Given the description of an element on the screen output the (x, y) to click on. 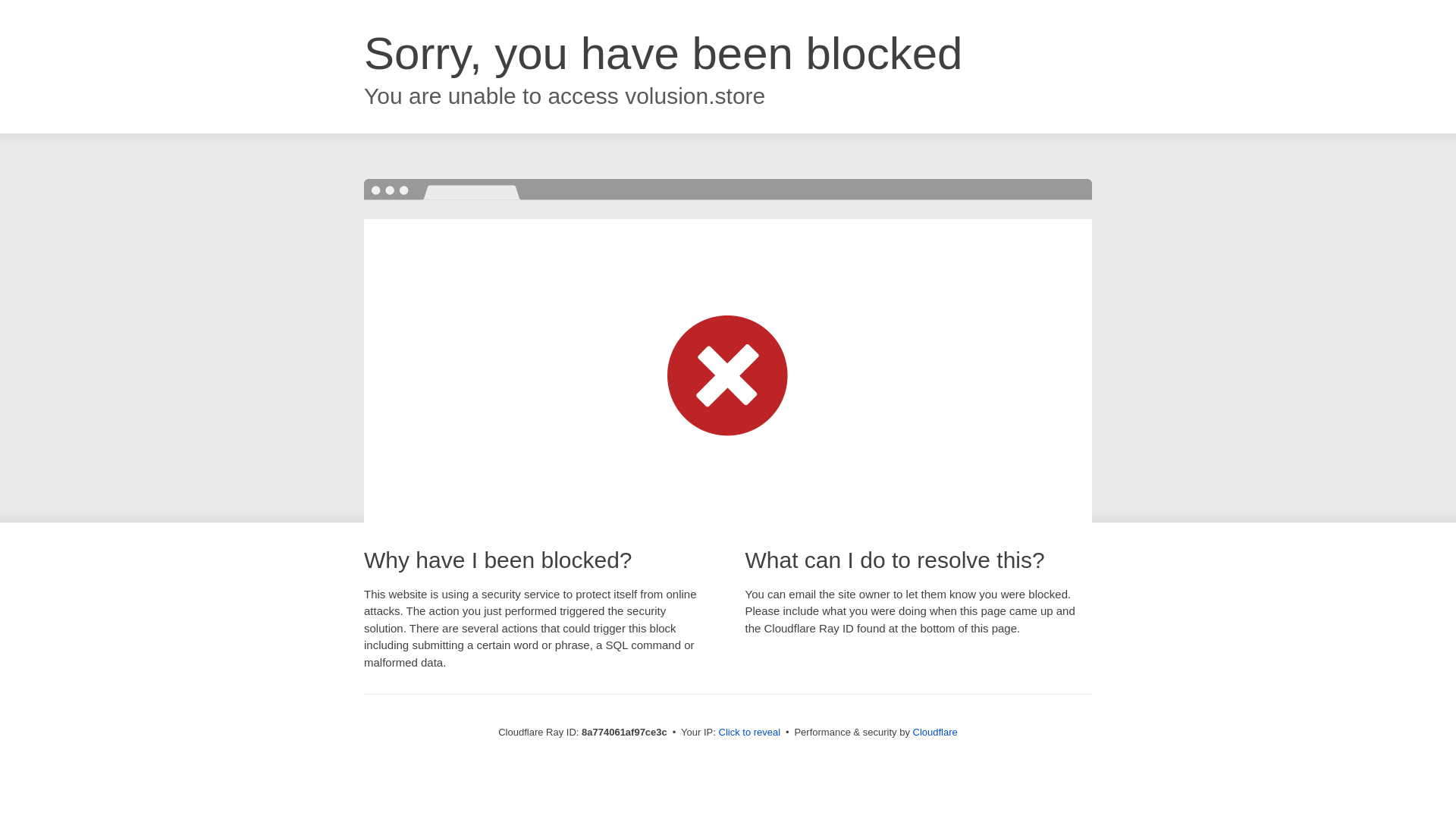
Cloudflare (935, 731)
Click to reveal (749, 732)
